Given the description of an element on the screen output the (x, y) to click on. 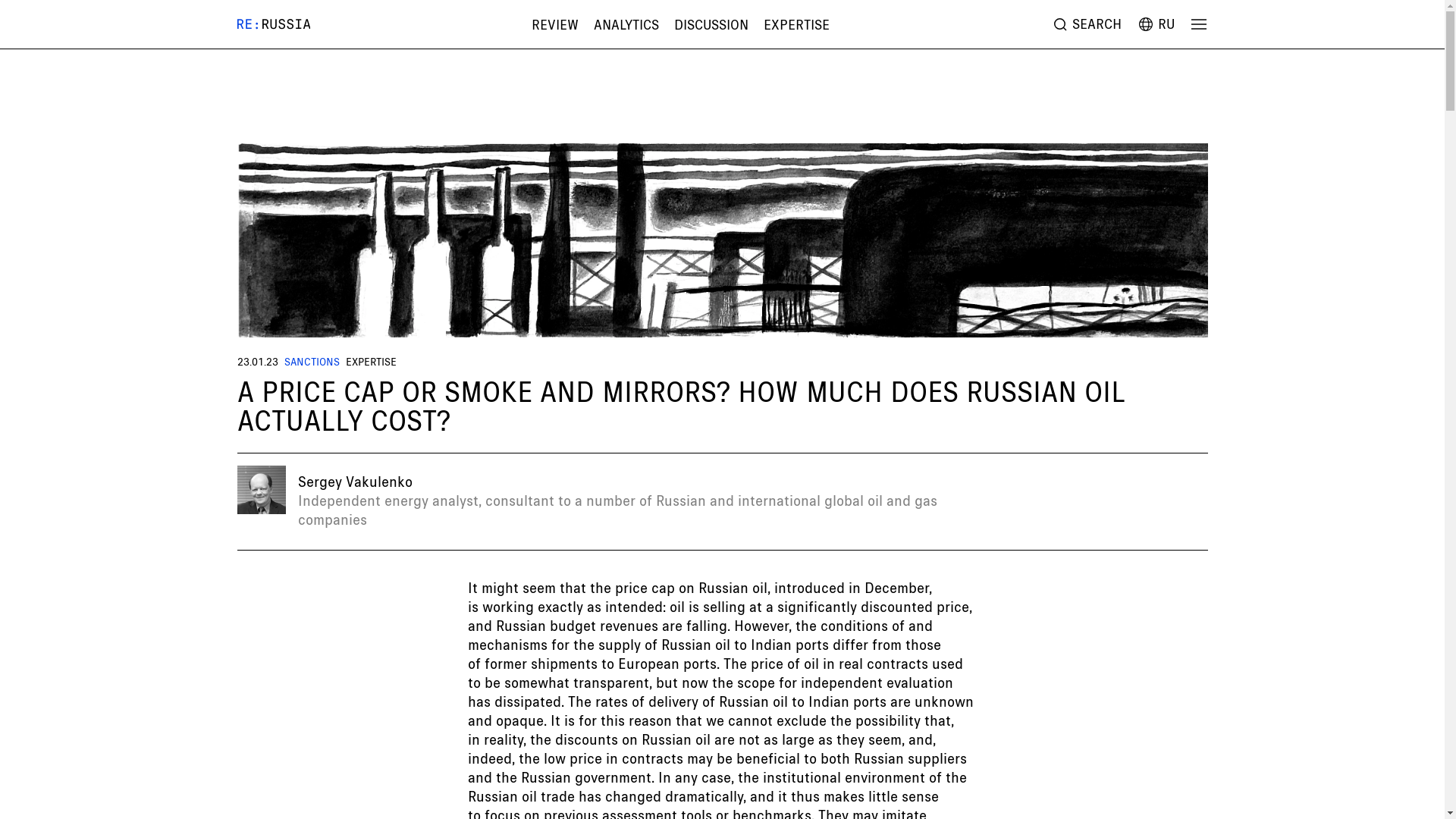
EXPERTISE (795, 23)
DISCUSSION (711, 23)
RU (1154, 24)
SANCTIONS (311, 361)
REVIEW (554, 23)
SEARCH (1086, 24)
ANALYTICS (626, 23)
EXPERTISE (371, 361)
